Given the description of an element on the screen output the (x, y) to click on. 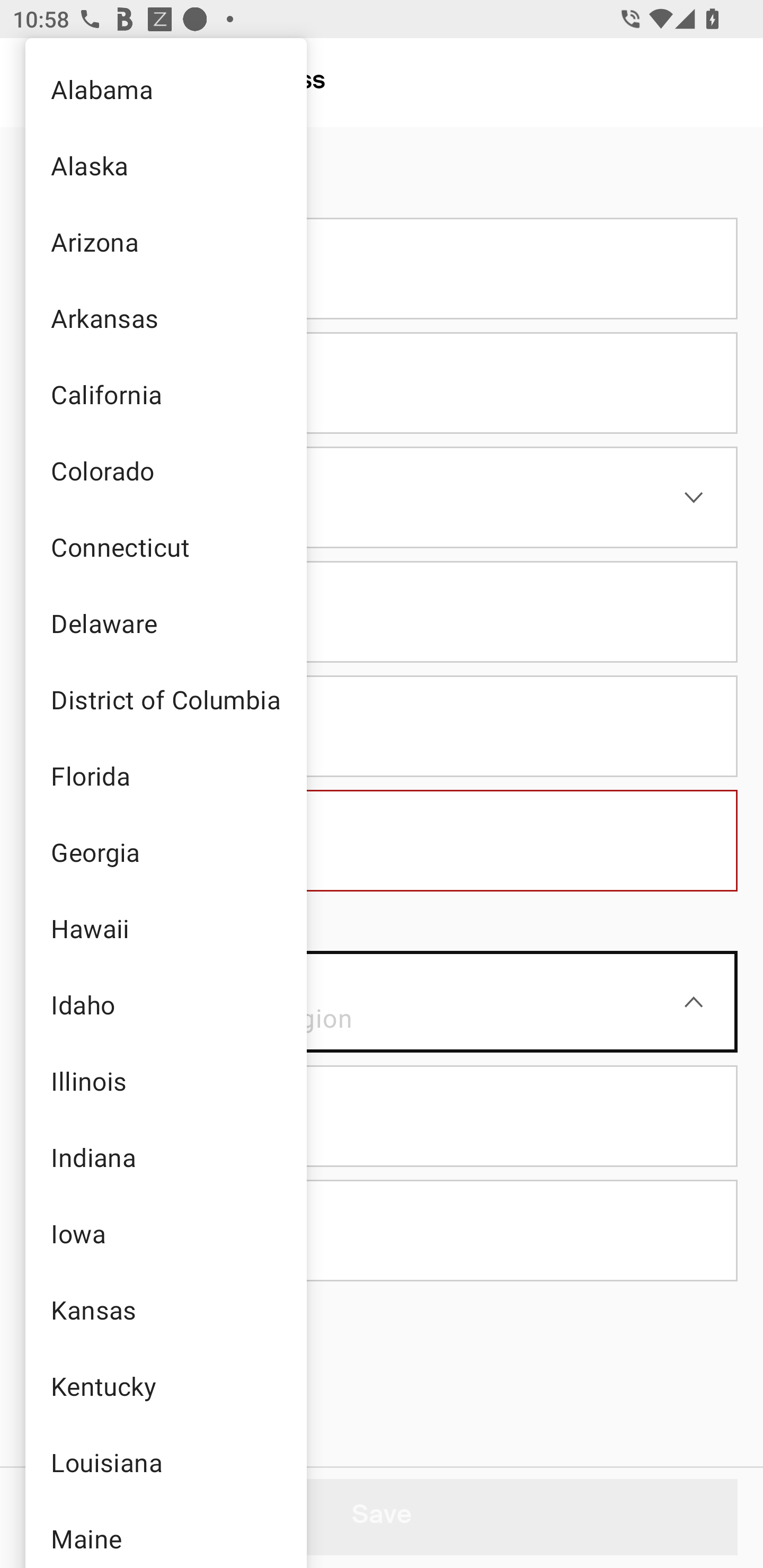
Alabama (165, 88)
Alaska (165, 165)
Arizona (165, 241)
Arkansas (165, 317)
California (165, 393)
Colorado (165, 470)
Connecticut (165, 546)
Delaware (165, 622)
District of Columbia (165, 698)
Florida (165, 774)
Georgia (165, 851)
Hawaii (165, 927)
Idaho (165, 1003)
Illinois (165, 1080)
Indiana (165, 1156)
Iowa (165, 1232)
Kansas (165, 1308)
Kentucky (165, 1384)
Louisiana (165, 1461)
Maine (165, 1534)
